Given the description of an element on the screen output the (x, y) to click on. 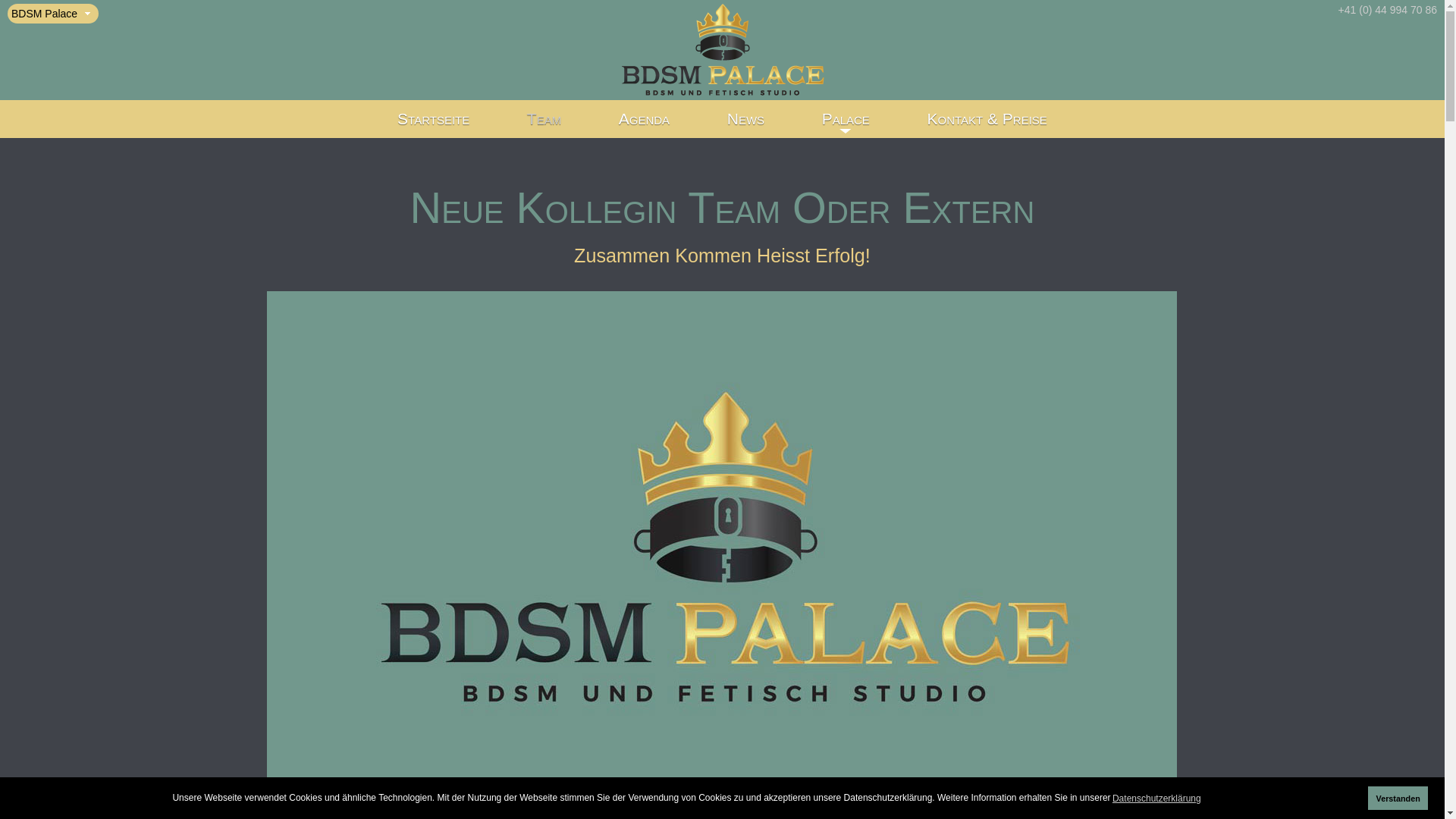
Palace Element type: text (845, 118)
Startseite Element type: text (433, 118)
Verstanden Element type: text (1398, 797)
+41 (0) 44 994 70 86 Element type: text (1387, 9)
News Element type: text (745, 118)
Kontakt & Preise Element type: text (987, 118)
Team Element type: text (544, 118)
Agenda Element type: text (643, 118)
